Given the description of an element on the screen output the (x, y) to click on. 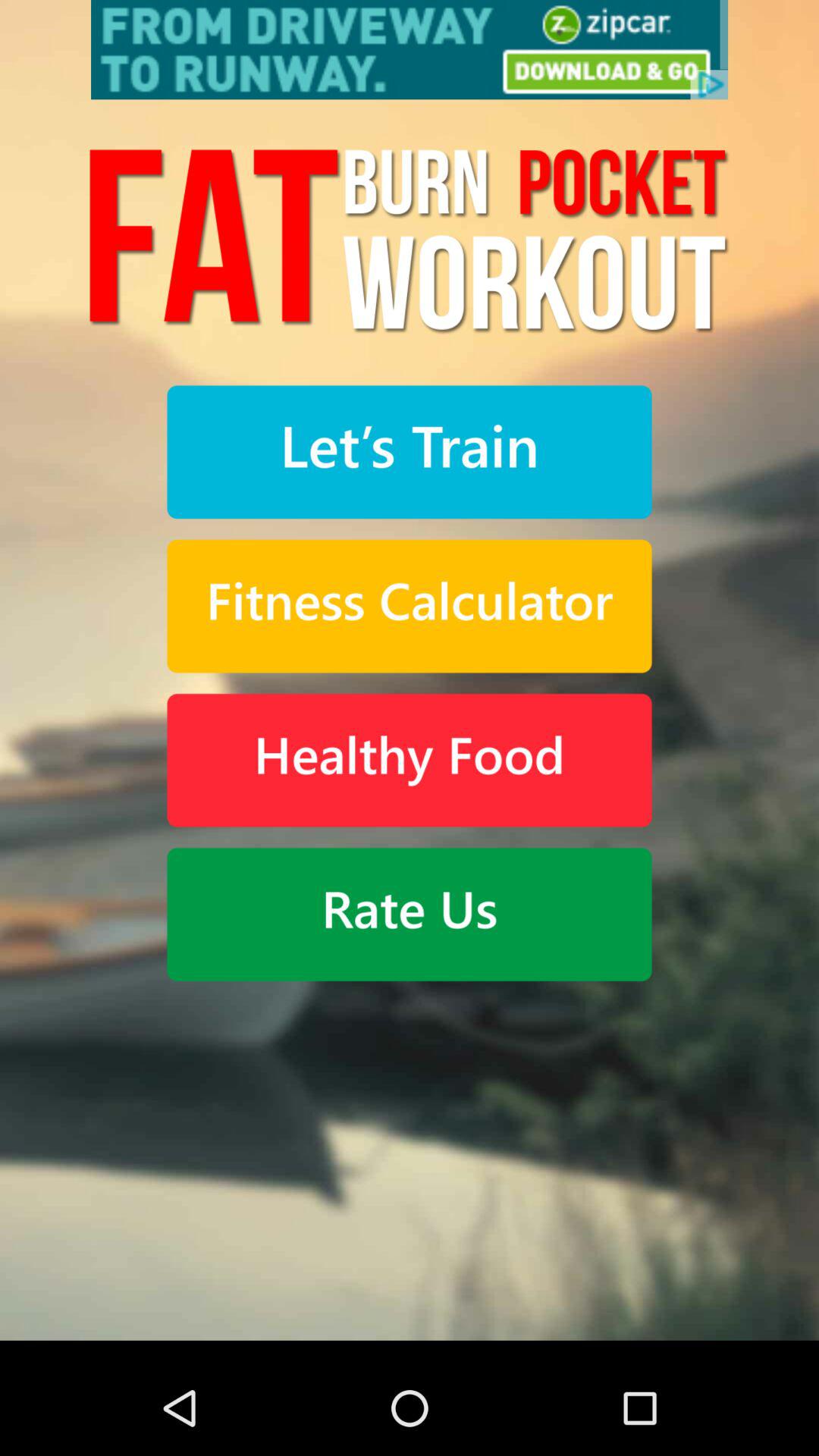
begin training (409, 452)
